Given the description of an element on the screen output the (x, y) to click on. 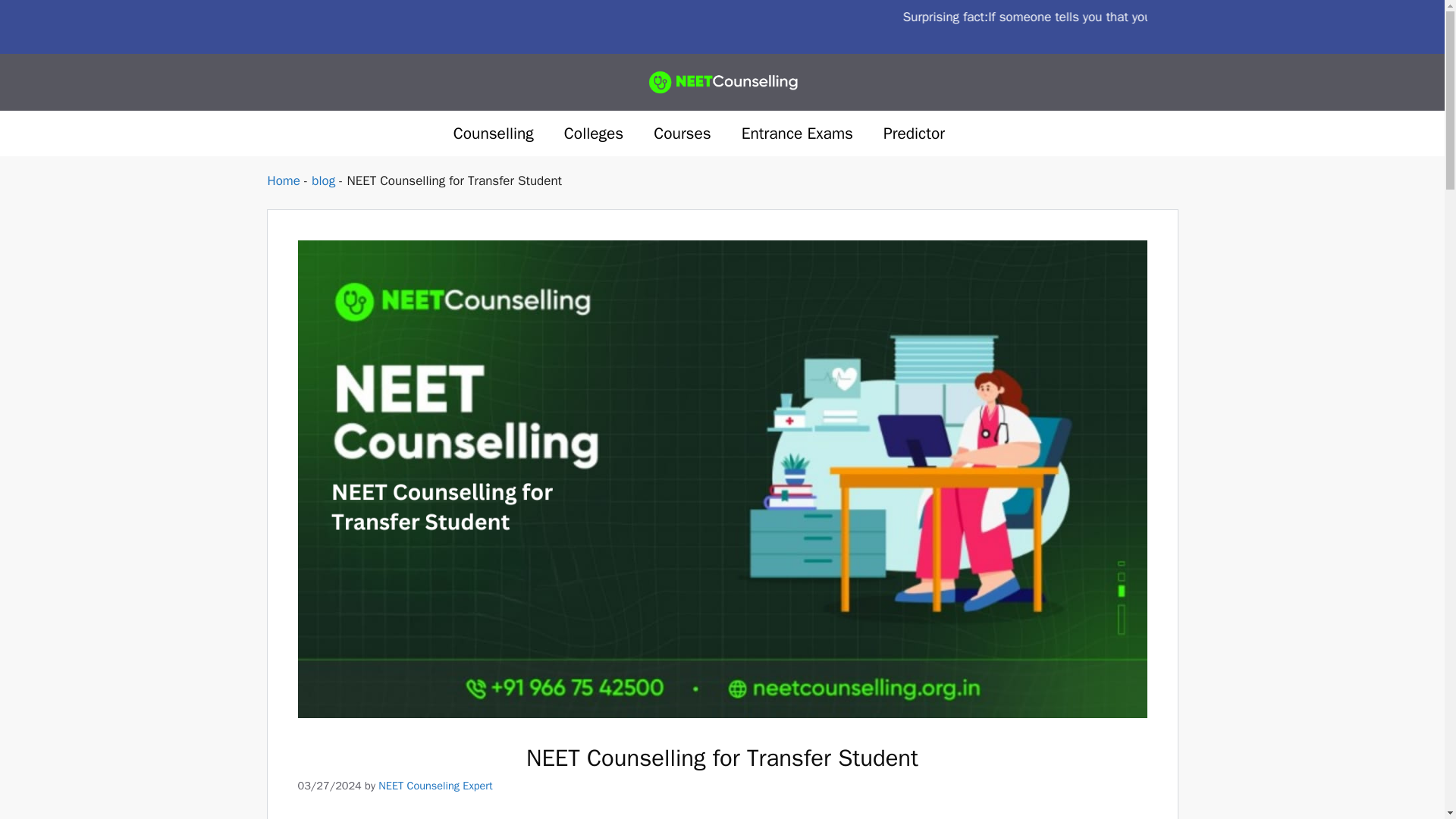
NEET Counseling Expert (435, 785)
Colleges (593, 133)
Counselling (493, 133)
Home (282, 180)
blog (322, 180)
Courses (682, 133)
View all posts by NEET Counseling Expert (435, 785)
Entrance Exams (796, 133)
Predictor  (915, 133)
